Given the description of an element on the screen output the (x, y) to click on. 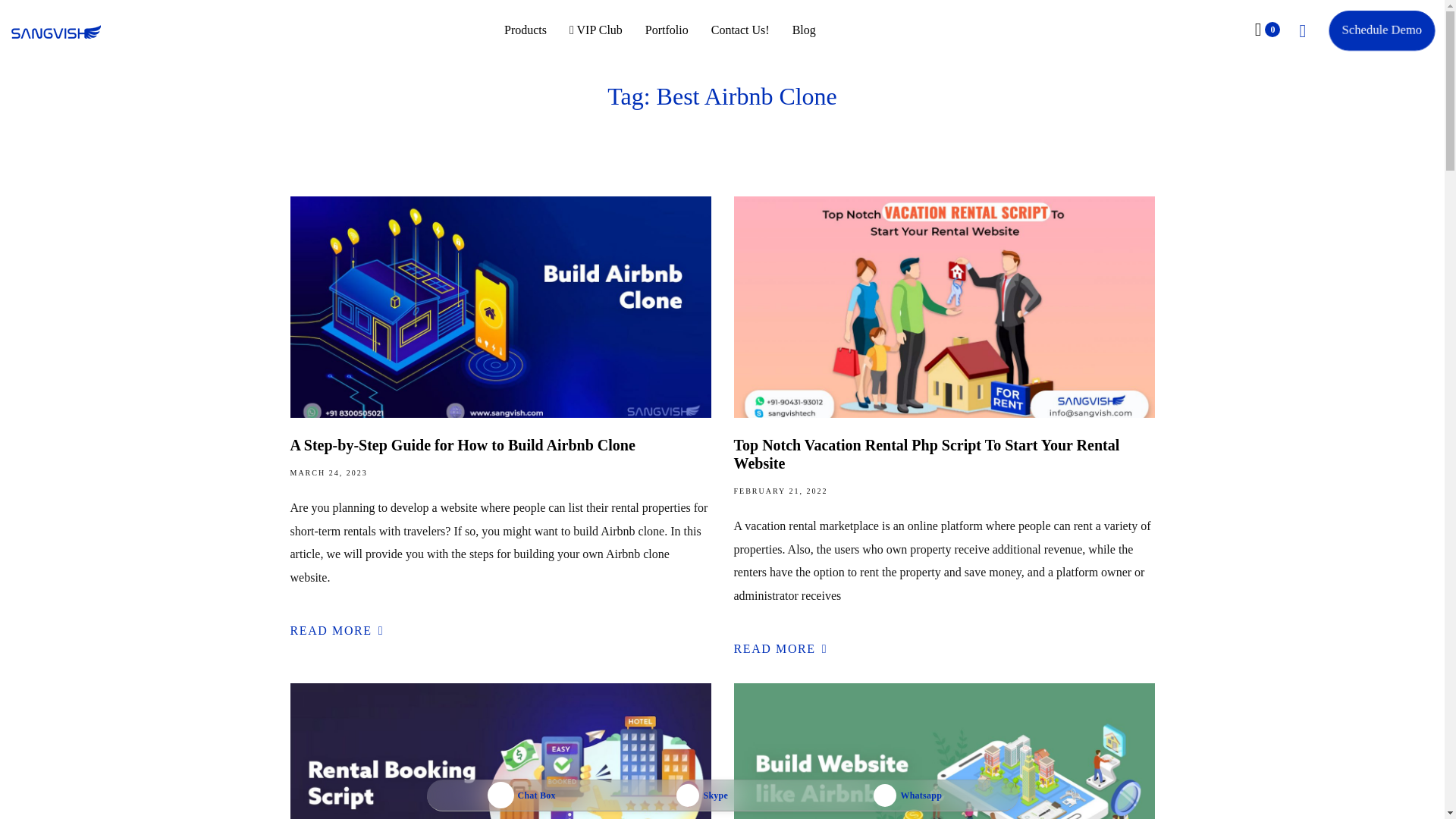
Products (525, 30)
Schedule Free Demo (1379, 29)
